Given the description of an element on the screen output the (x, y) to click on. 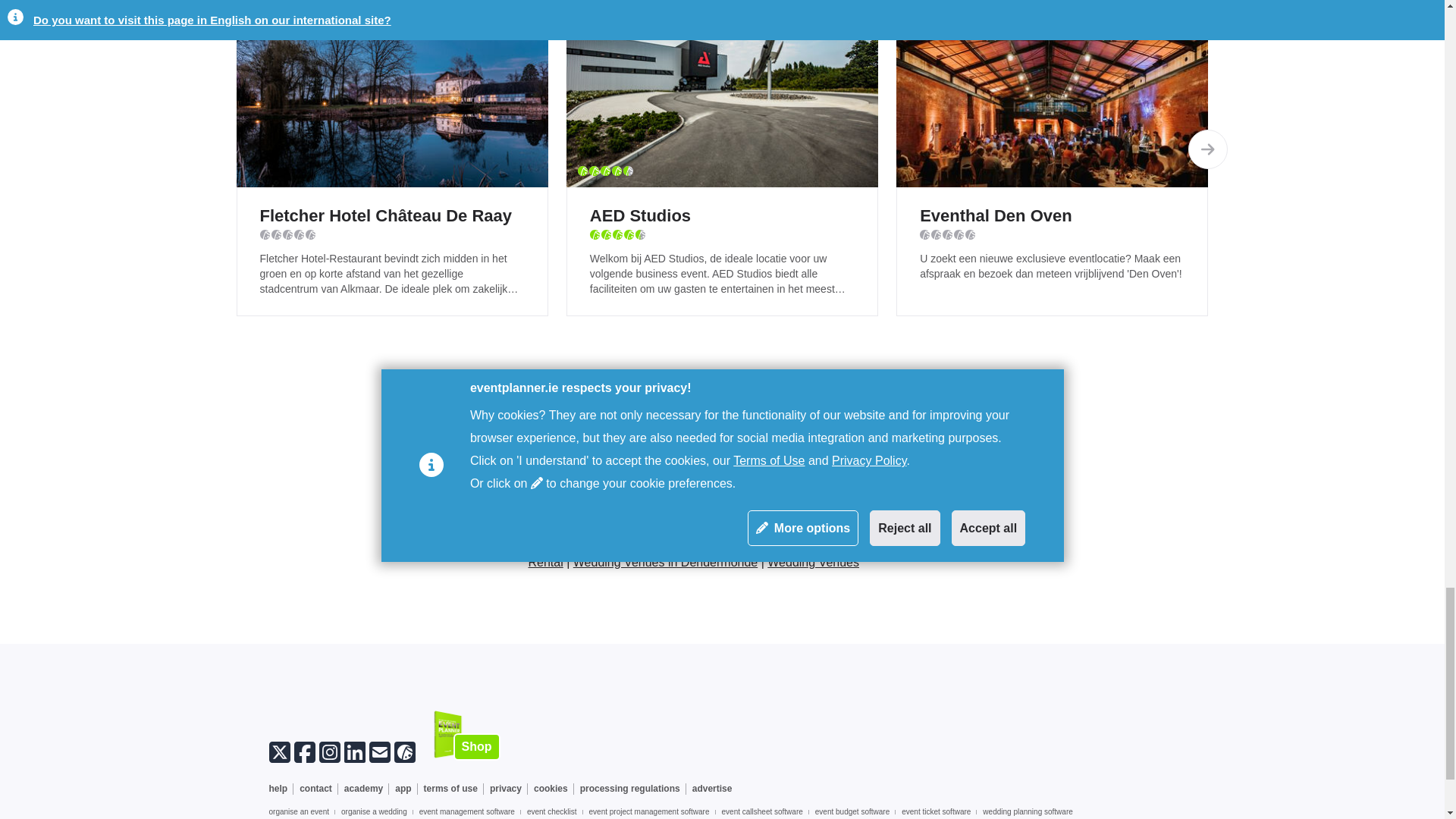
Eventhal Den Oven  (1052, 94)
Banquet hall rental in Dendermonde (624, 523)
Wedding Venues (813, 562)
Event venues in Oost-Vlaanderen (573, 493)
Wedding Venues in Dendermonde (665, 562)
Banquet hall rental (782, 523)
Event Venues Rental in Dendermonde (852, 543)
Event venues in Belgium (652, 493)
AED Studios (721, 94)
Conference Hall Rental in Dendermonde (754, 533)
Conference Hall Rental (676, 543)
Event Venues Rental (784, 552)
